Given the description of an element on the screen output the (x, y) to click on. 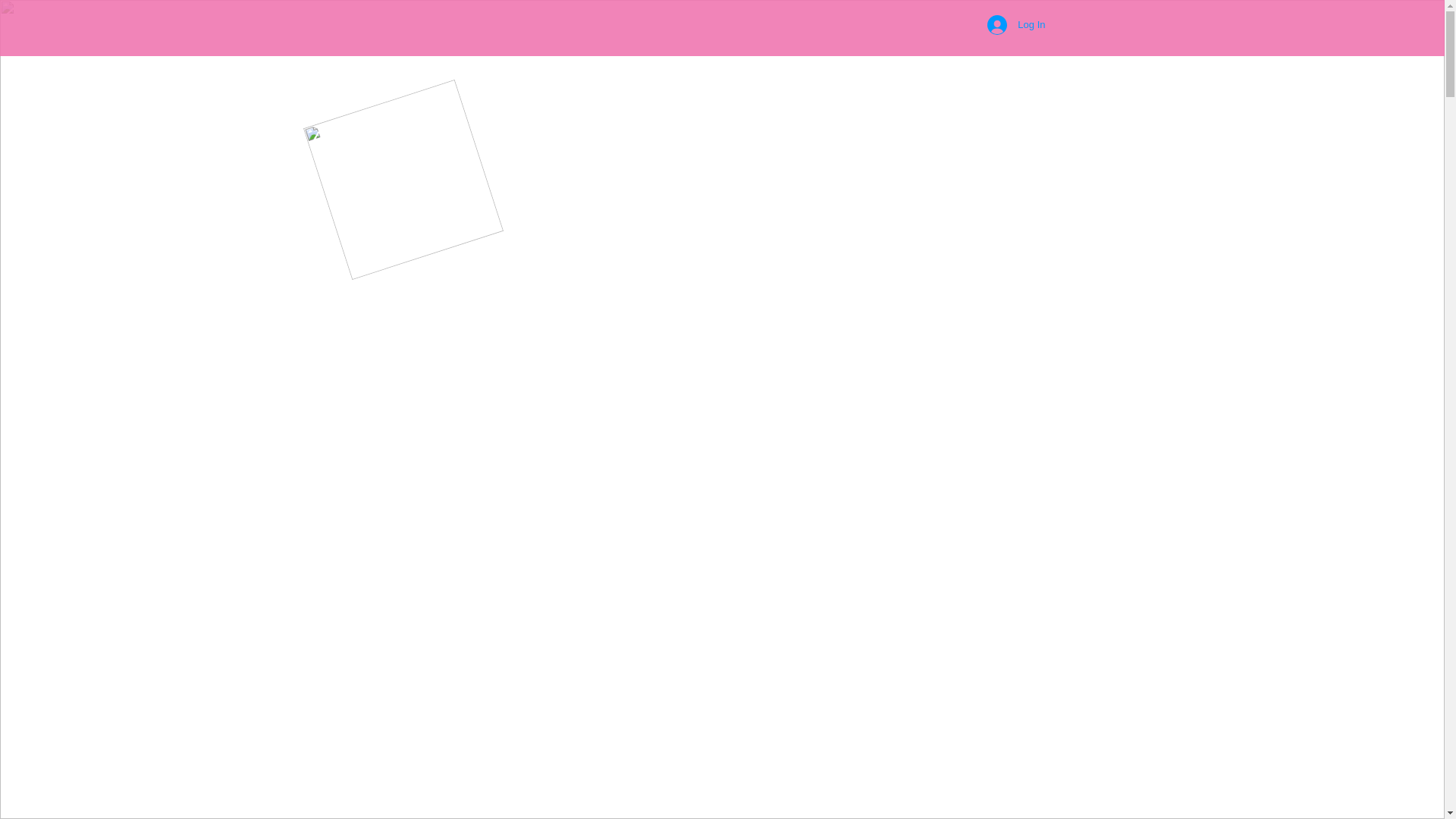
Log In Element type: text (1015, 24)
